Given the description of an element on the screen output the (x, y) to click on. 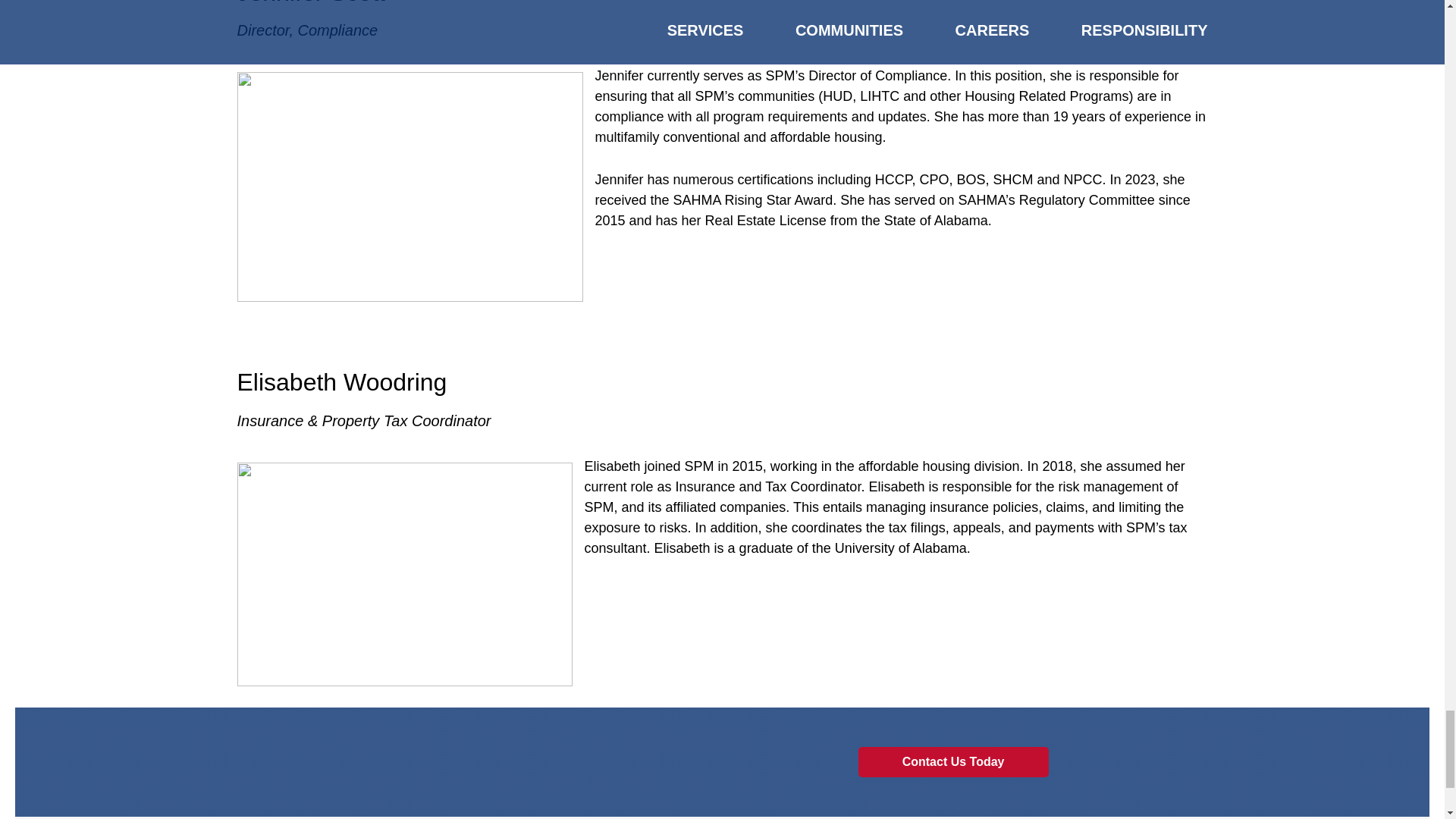
Contact Us Today (953, 761)
